Given the description of an element on the screen output the (x, y) to click on. 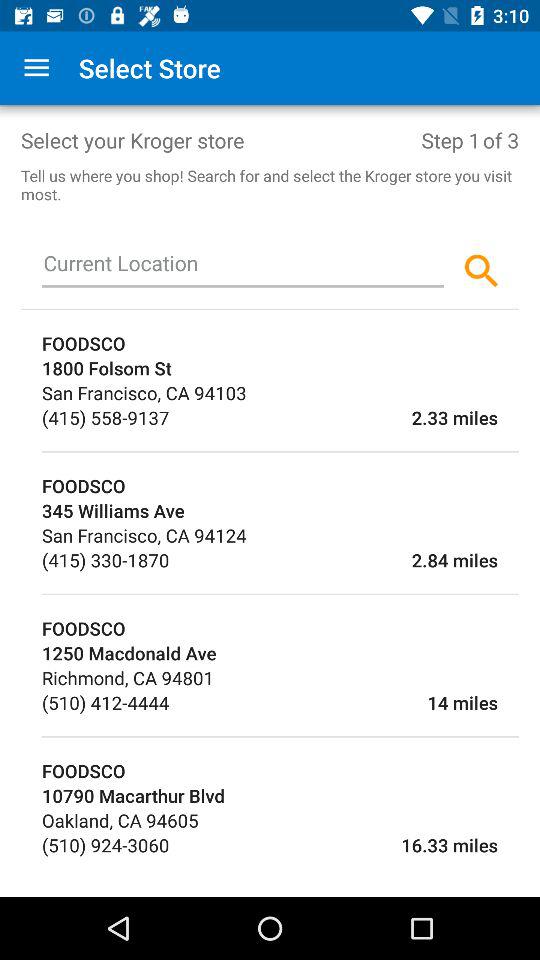
select the item to the left of 2.33 miles (105, 417)
